Given the description of an element on the screen output the (x, y) to click on. 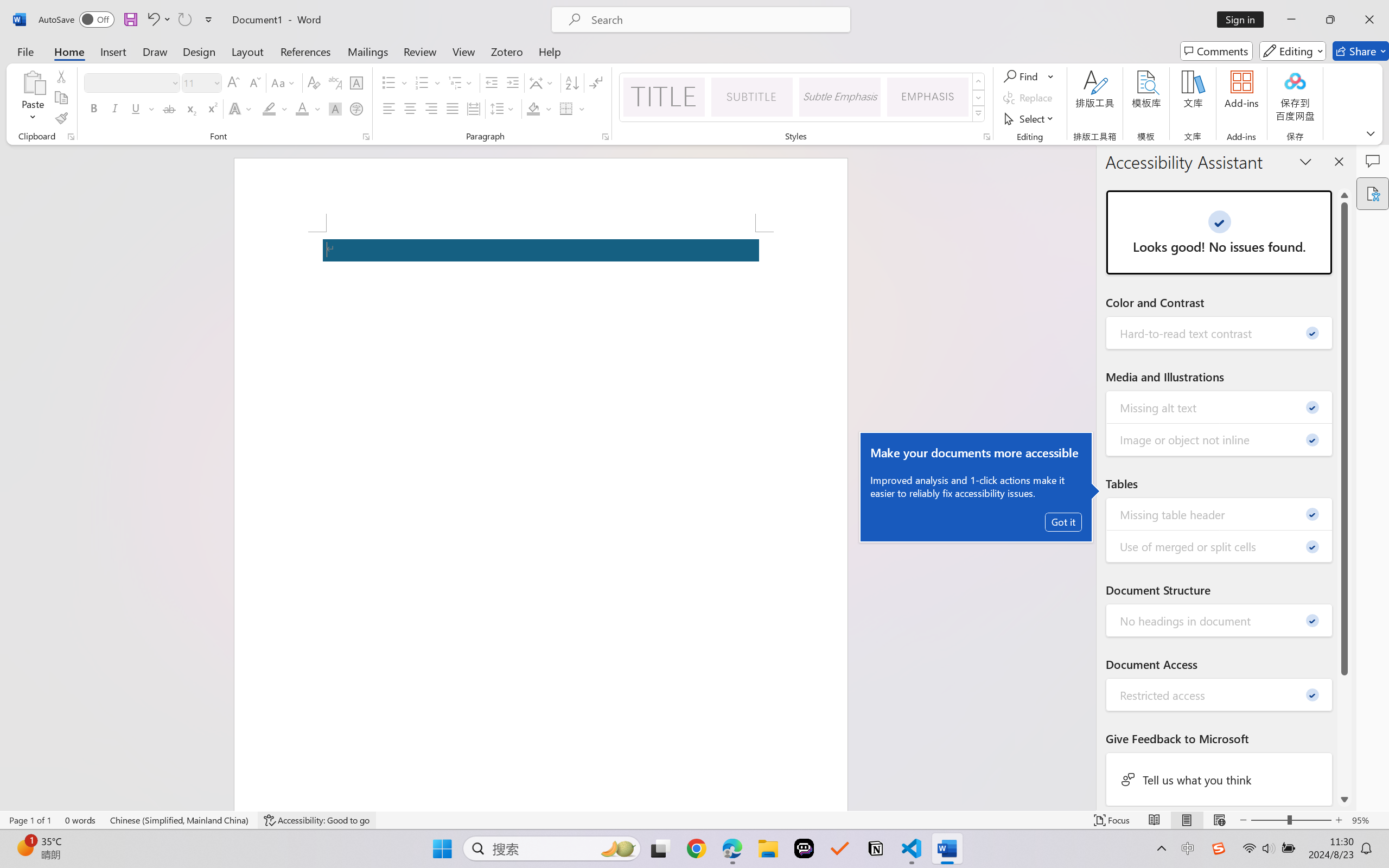
Missing alt text - 0 (1219, 407)
Restricted access - 0 (1219, 694)
Missing table header - 0 (1219, 514)
